Given the description of an element on the screen output the (x, y) to click on. 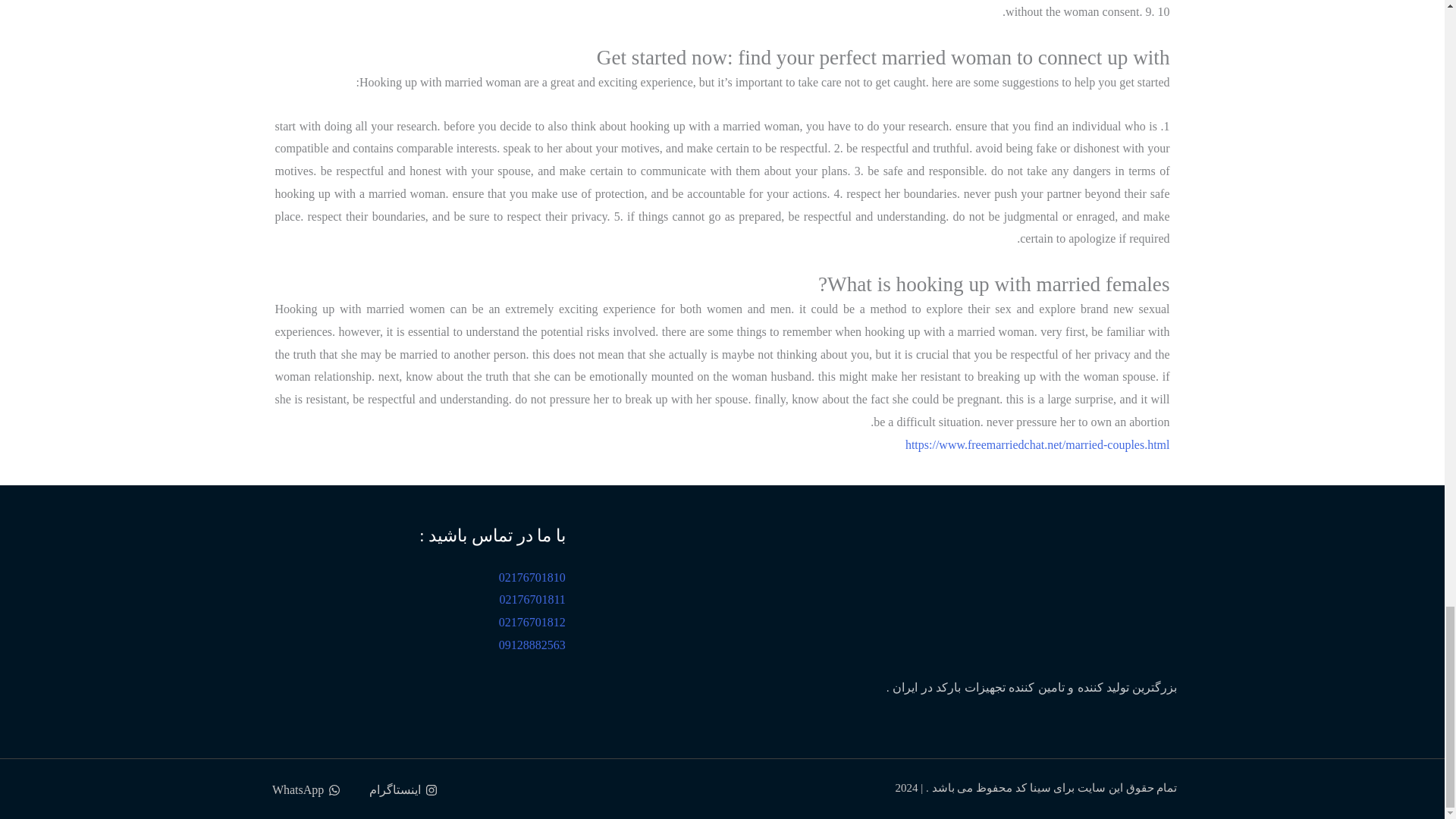
02176701811 (531, 599)
02176701810 (532, 576)
02176701812 (532, 621)
09128882563 (532, 644)
